Given the description of an element on the screen output the (x, y) to click on. 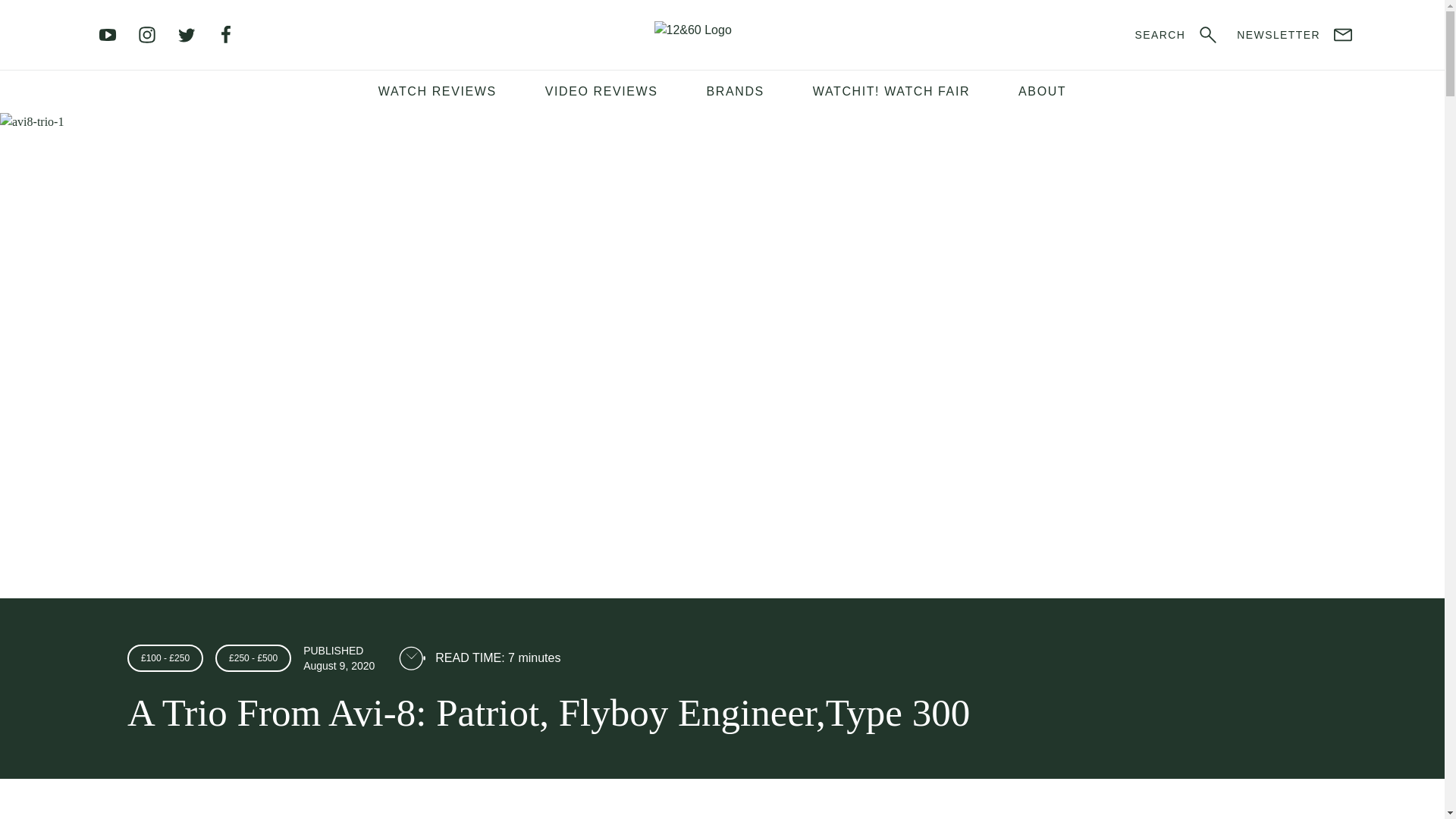
WATCHIT! WATCH FAIR (890, 90)
BRANDS (735, 90)
ABOUT (1042, 90)
SEARCH (1177, 34)
NEWSLETTER (1295, 34)
WATCH REVIEWS (437, 90)
VIDEO REVIEWS (600, 90)
